Given the description of an element on the screen output the (x, y) to click on. 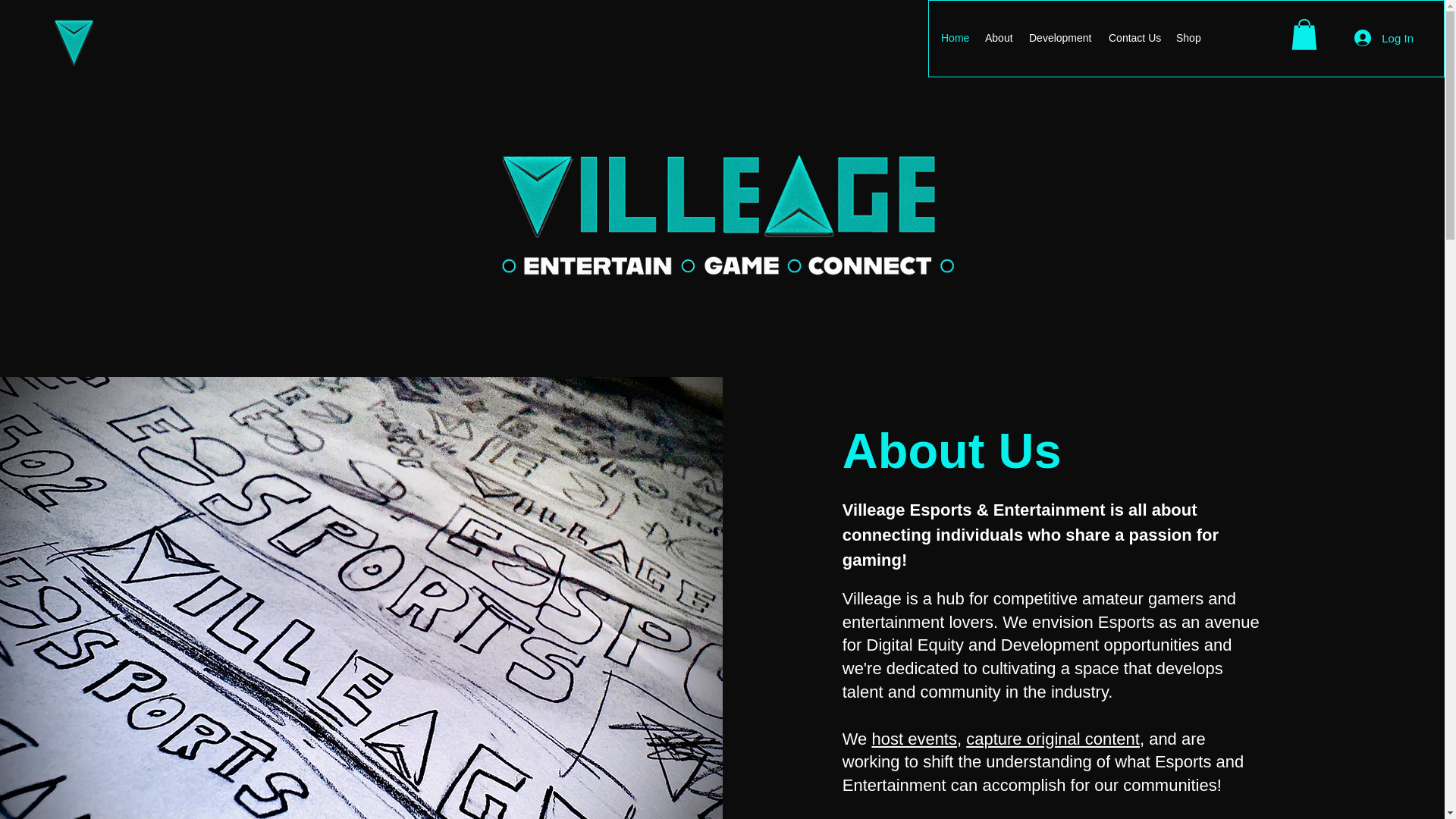
Log In (1383, 37)
host events (913, 738)
Shop (1188, 38)
Home (954, 38)
capture original content (1053, 738)
About (999, 38)
GameEntertainConnect.png (727, 265)
Contact Us (1134, 38)
Development (1061, 38)
